Given the description of an element on the screen output the (x, y) to click on. 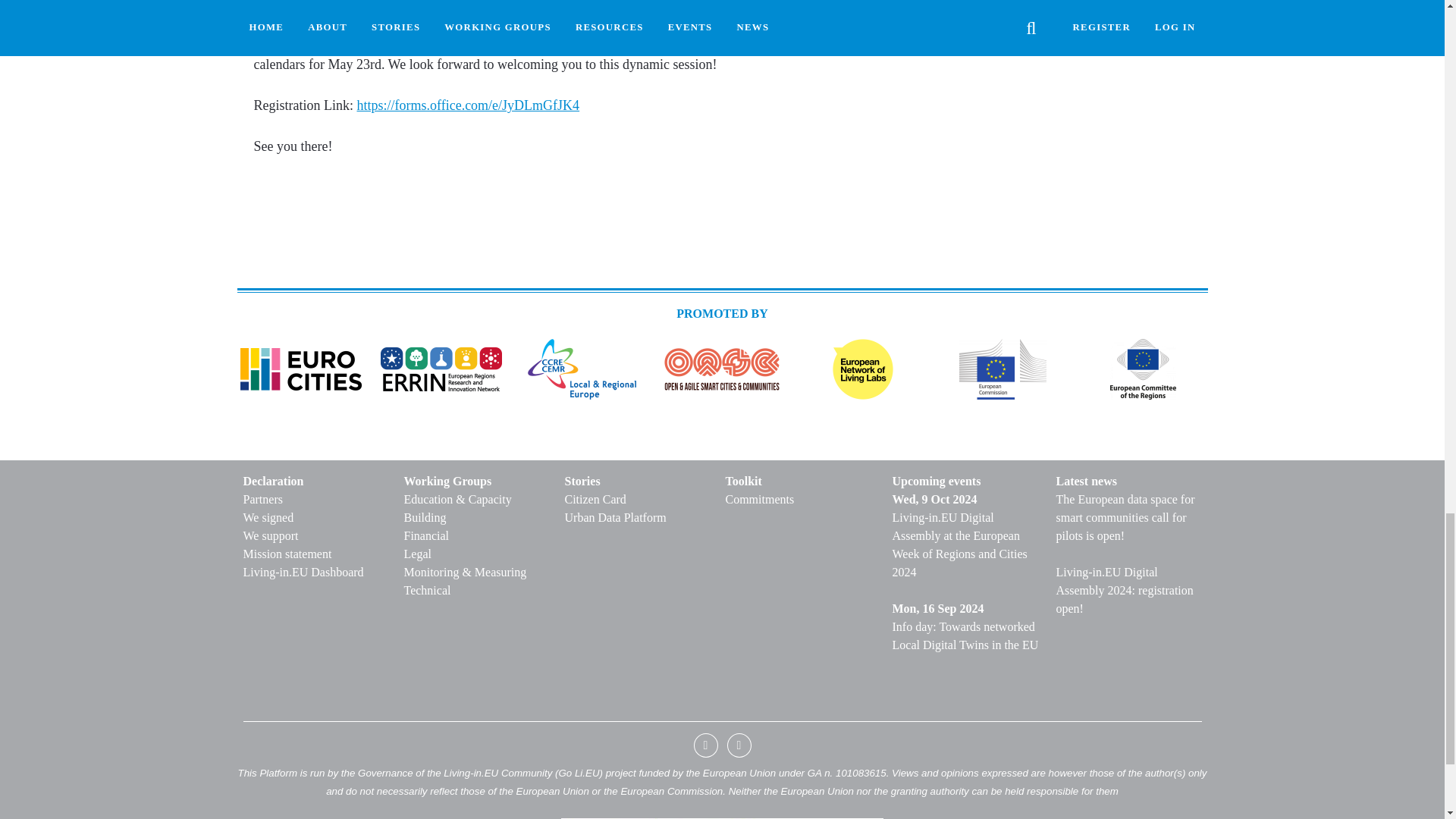
Declaration (316, 481)
Mission statement (316, 554)
Forum Virium Helsinki (471, 5)
